Given the description of an element on the screen output the (x, y) to click on. 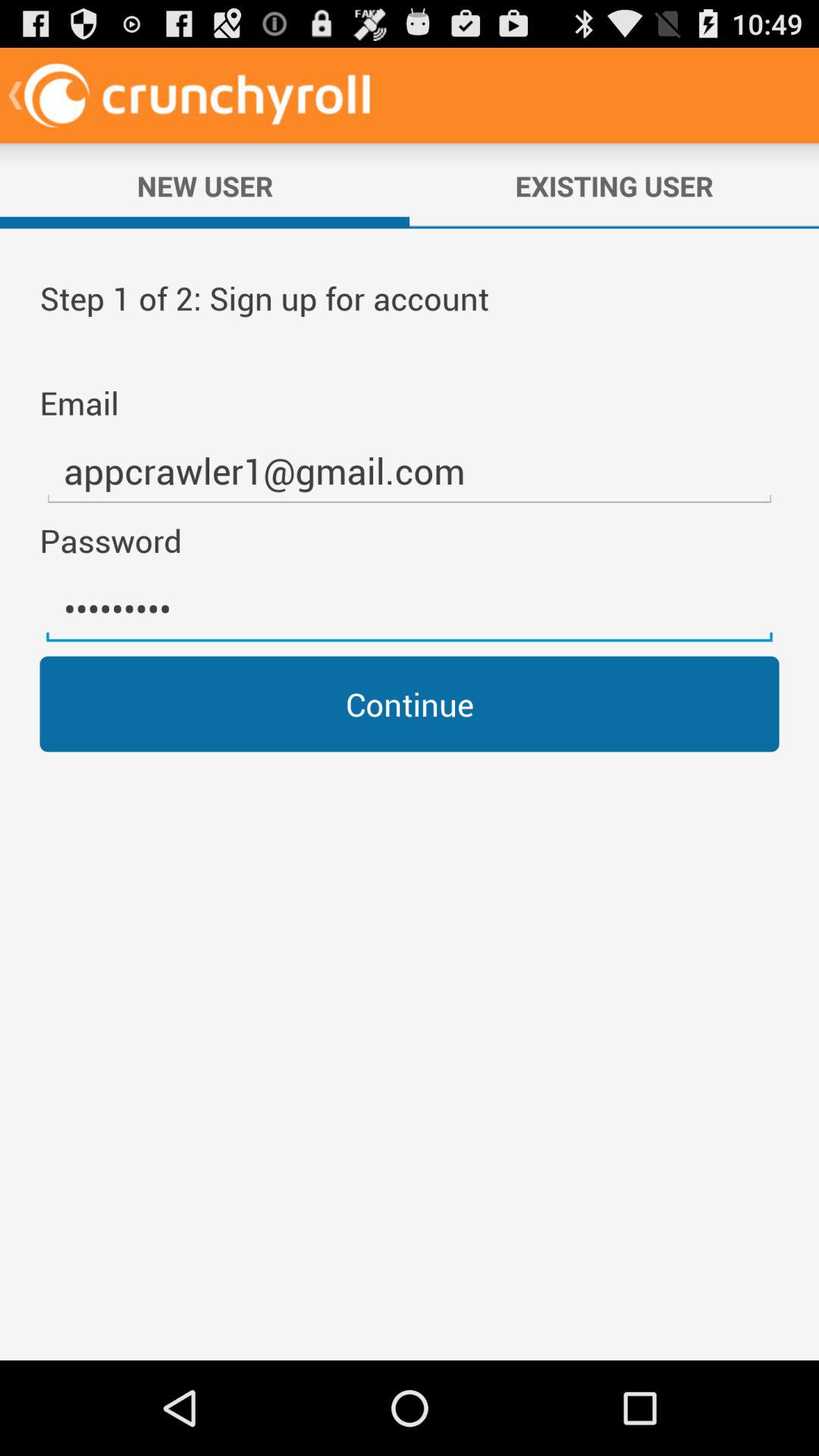
tap item to the right of the new user icon (614, 185)
